Given the description of an element on the screen output the (x, y) to click on. 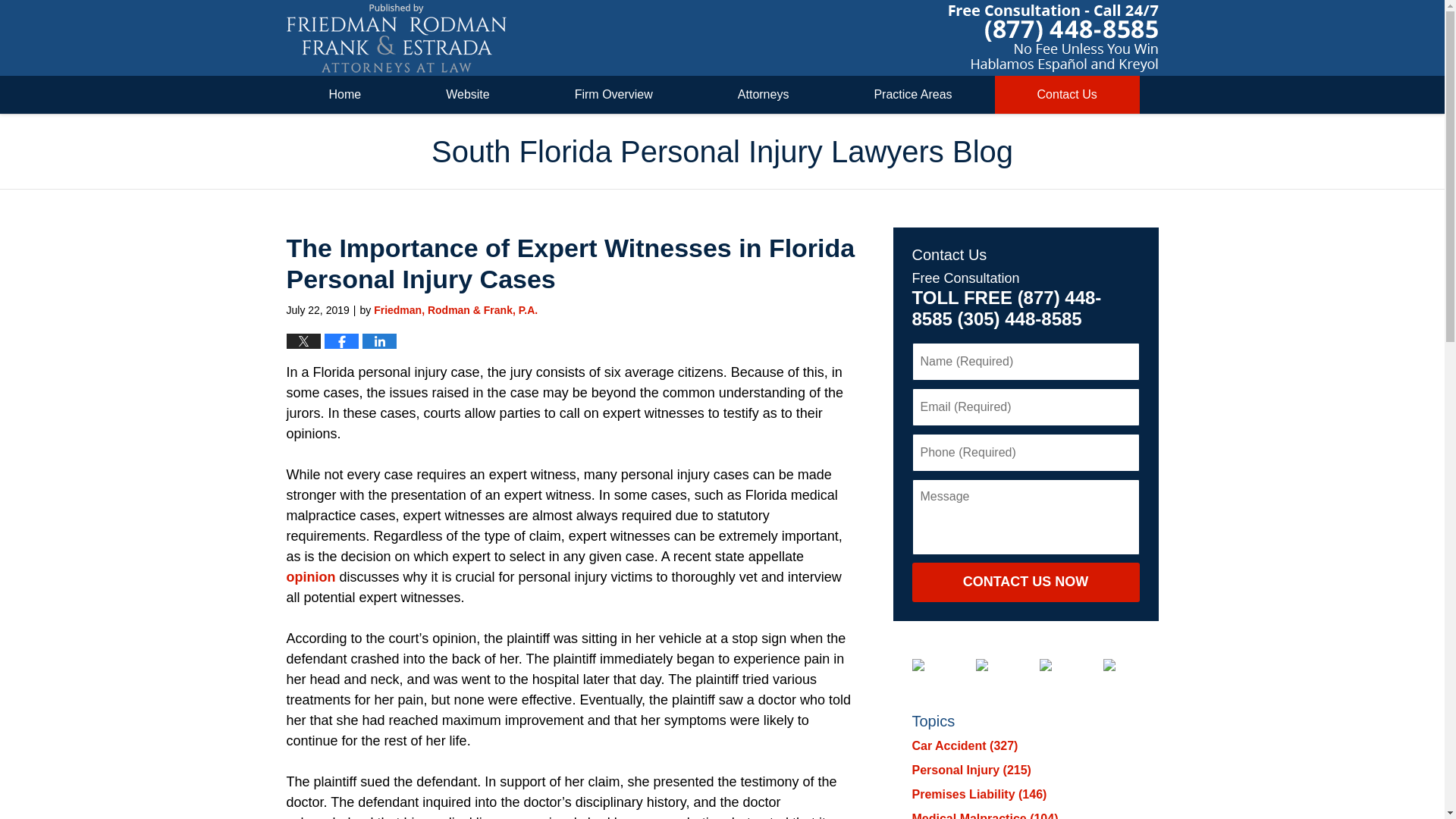
Firm Overview (613, 94)
South Florida Personal Injury Lawyers Blog (396, 37)
Please enter a valid phone number. (1024, 452)
Website (467, 94)
Attorneys (763, 94)
Justia (1057, 664)
Home (345, 94)
Practice Areas (912, 94)
LinkedIn (993, 664)
Facebook (929, 664)
